Given the description of an element on the screen output the (x, y) to click on. 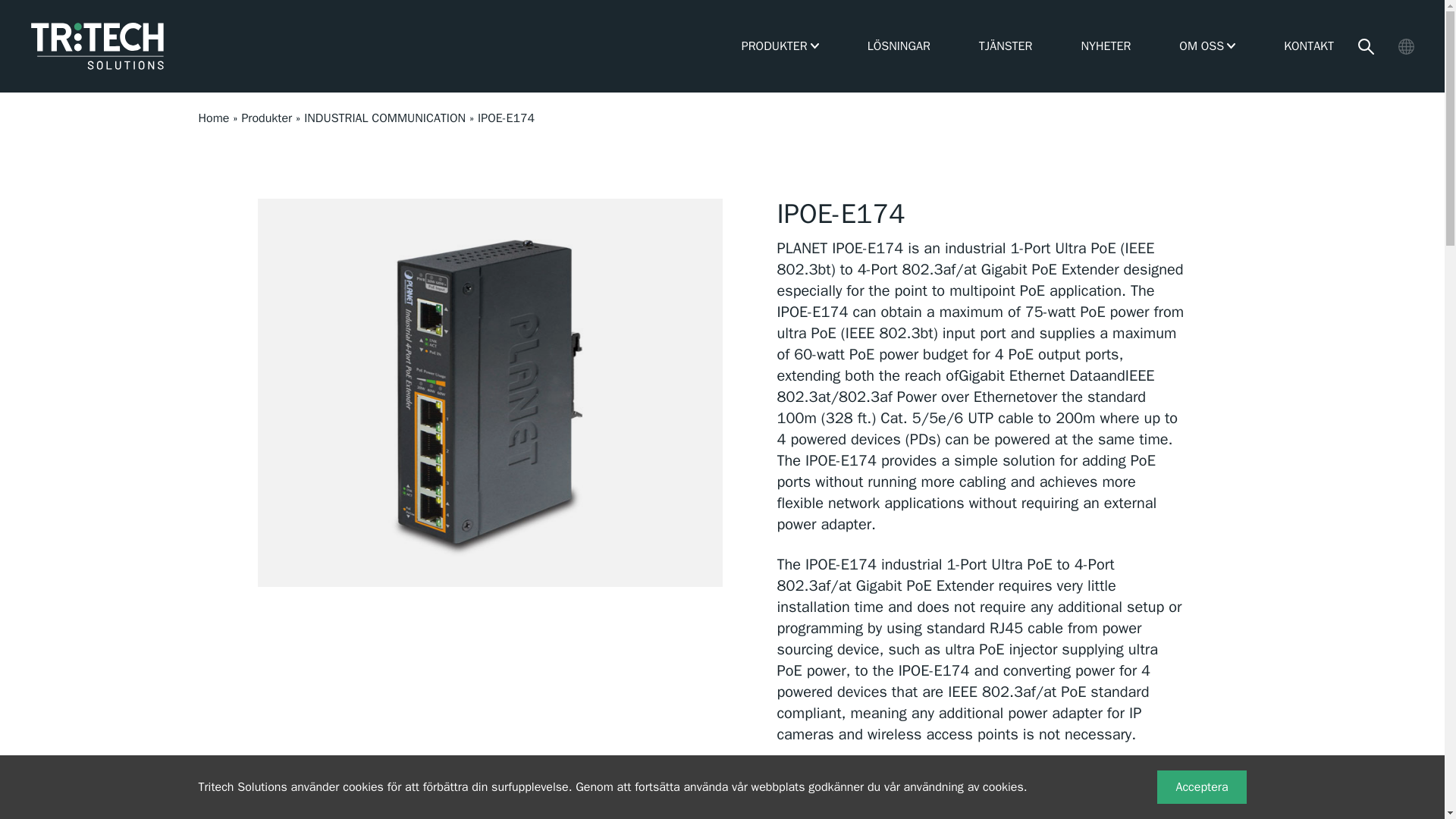
Planet (884, 812)
Produkter (266, 118)
Home (214, 118)
INDUSTRIAL COMMUNICATION (384, 118)
OM OSS (1201, 45)
KONTAKT (1308, 45)
NYHETER (1105, 45)
PRODUKTER (774, 45)
